Given the description of an element on the screen output the (x, y) to click on. 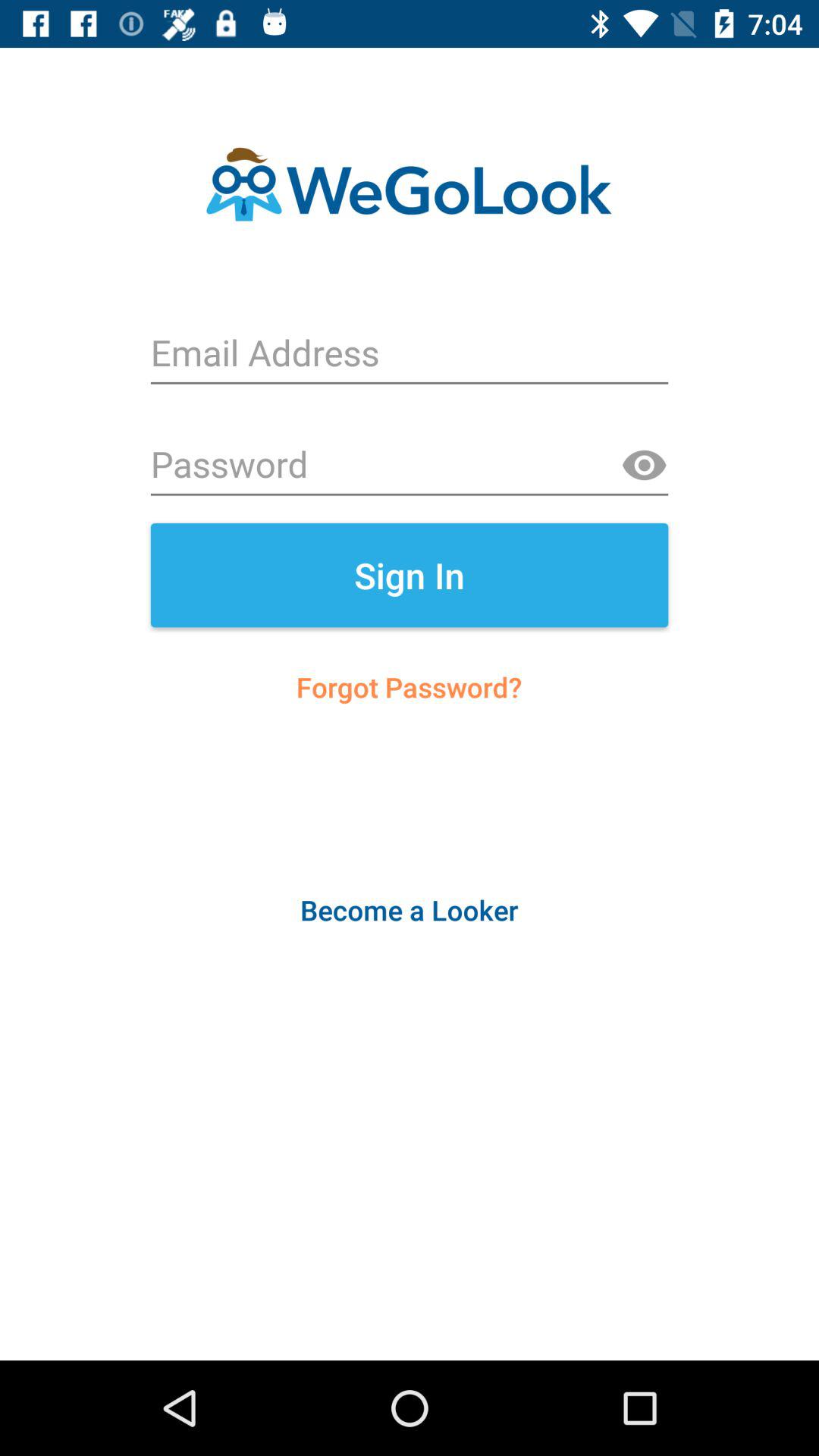
launch icon below the sign in item (409, 686)
